Given the description of an element on the screen output the (x, y) to click on. 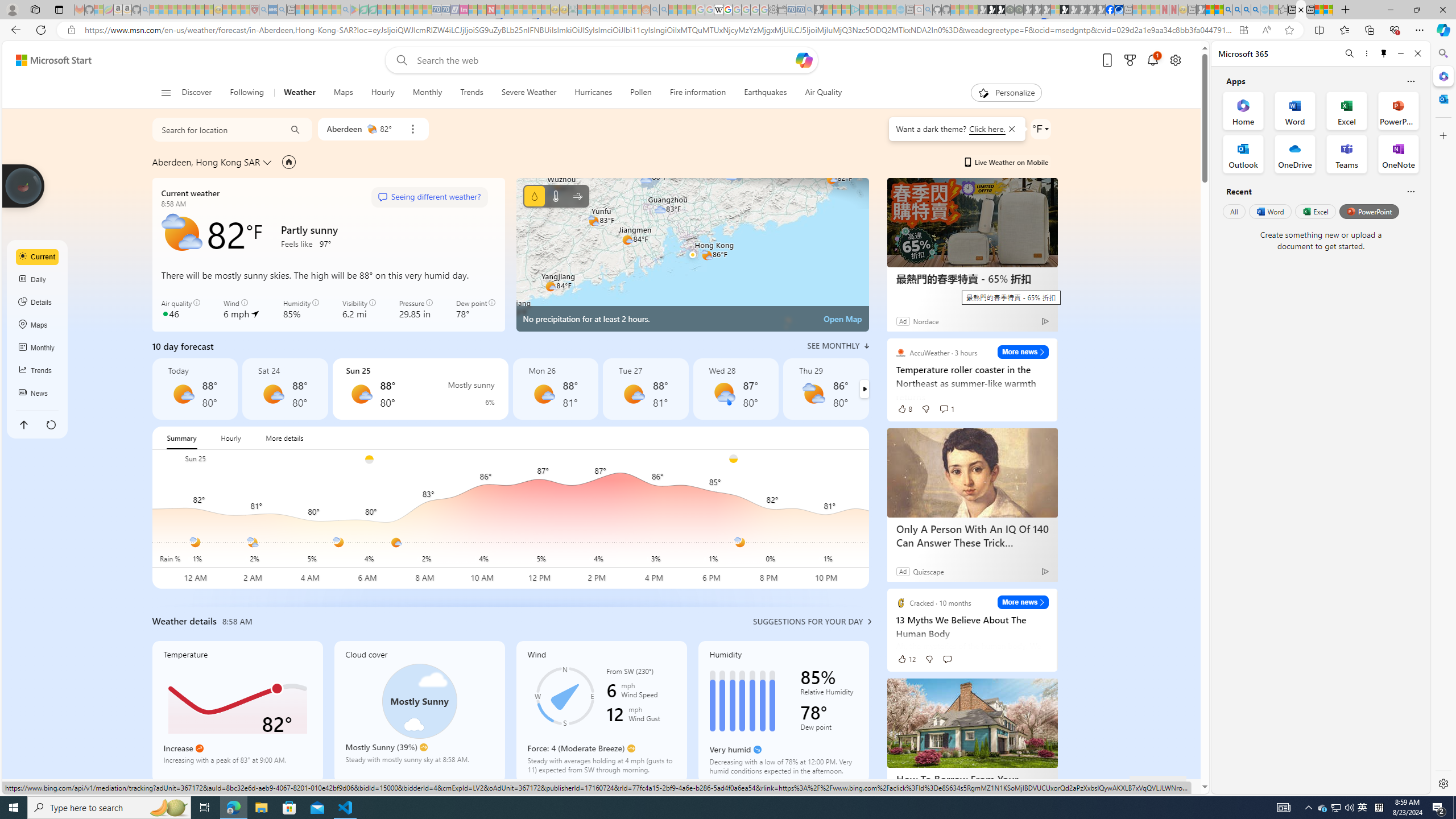
Privacy & Cookies (915, 786)
No precipitation for at least 2 hours (692, 254)
Maps (37, 325)
Remove location (412, 128)
Pressure 29.85 in (415, 309)
Terms of Use Agreement - Sleeping (362, 9)
Cloud cover (419, 711)
